Given the description of an element on the screen output the (x, y) to click on. 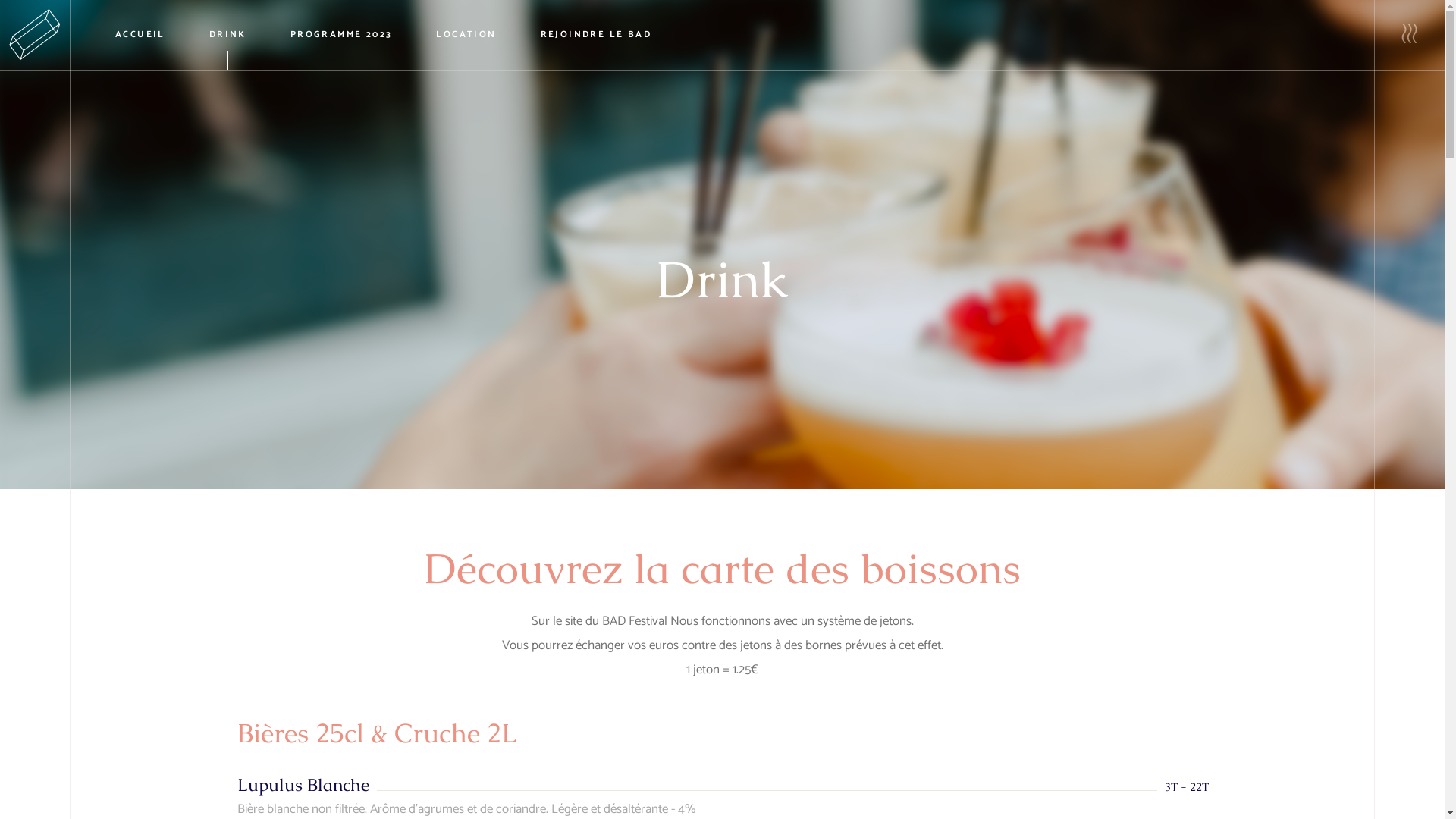
PROGRAMME 2023 Element type: text (341, 34)
ACCUEIL Element type: text (140, 34)
DRINK Element type: text (227, 34)
REJOINDRE LE BAD Element type: text (595, 34)
LOCATION Element type: text (465, 34)
